Given the description of an element on the screen output the (x, y) to click on. 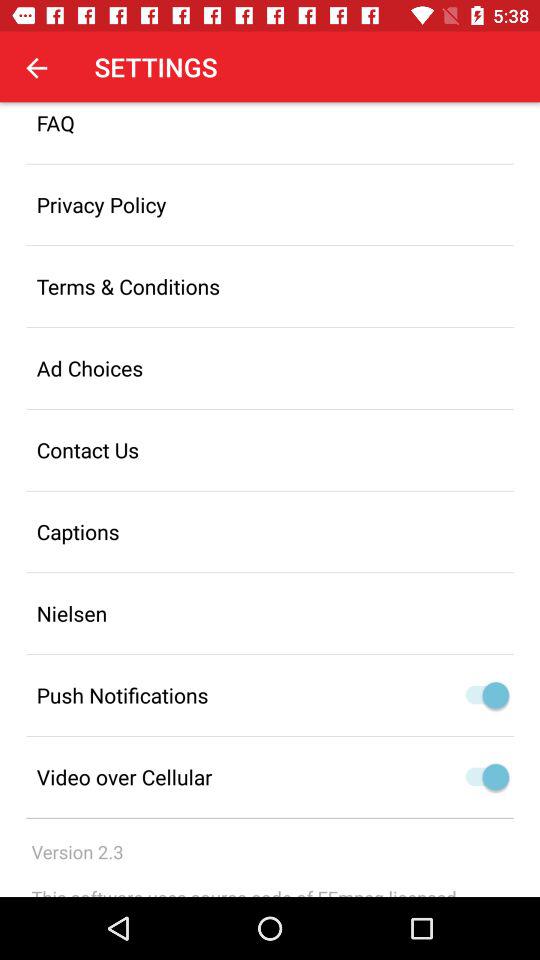
select the on option (482, 777)
